Given the description of an element on the screen output the (x, y) to click on. 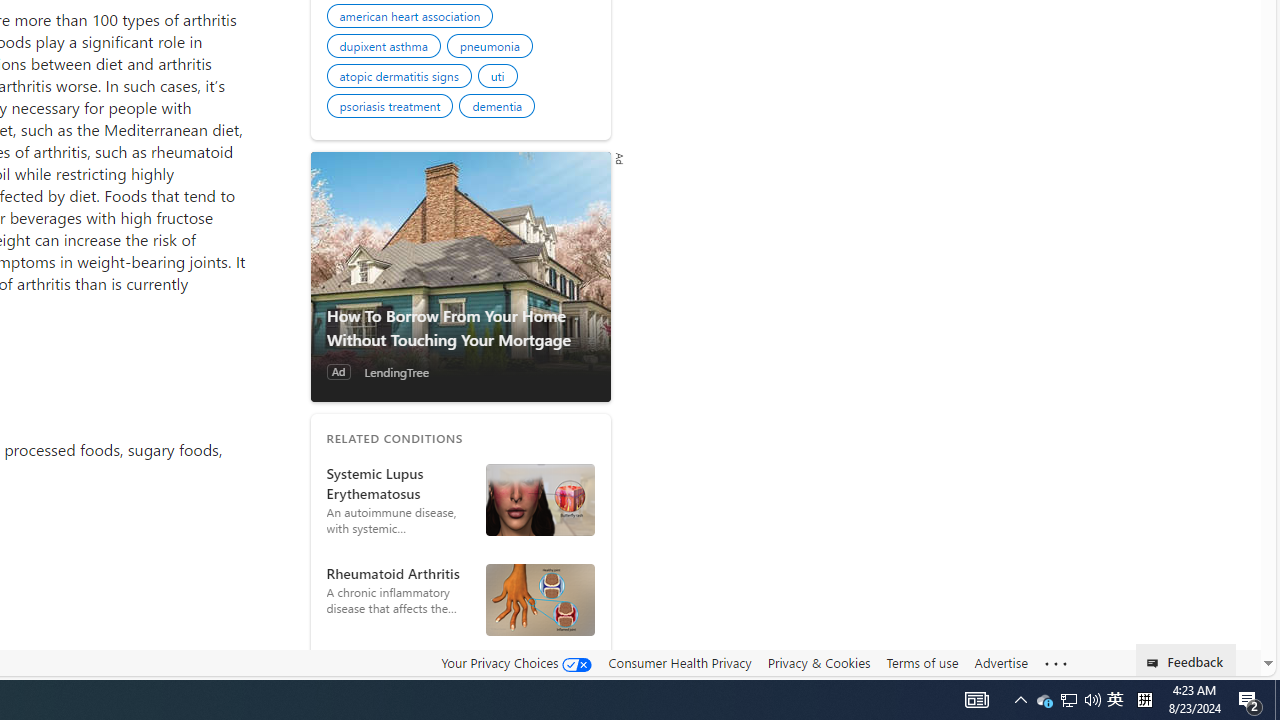
uti (500, 79)
See more related conditions (459, 668)
Your Privacy Choices (516, 662)
Consumer Health Privacy (680, 662)
Terms of use (921, 662)
Your Privacy Choices (516, 663)
pneumonia (491, 48)
dementia (500, 108)
Class: oneFooter_seeMore-DS-EntryPoint1-1 (1055, 663)
dupixent asthma (386, 48)
